Given the description of an element on the screen output the (x, y) to click on. 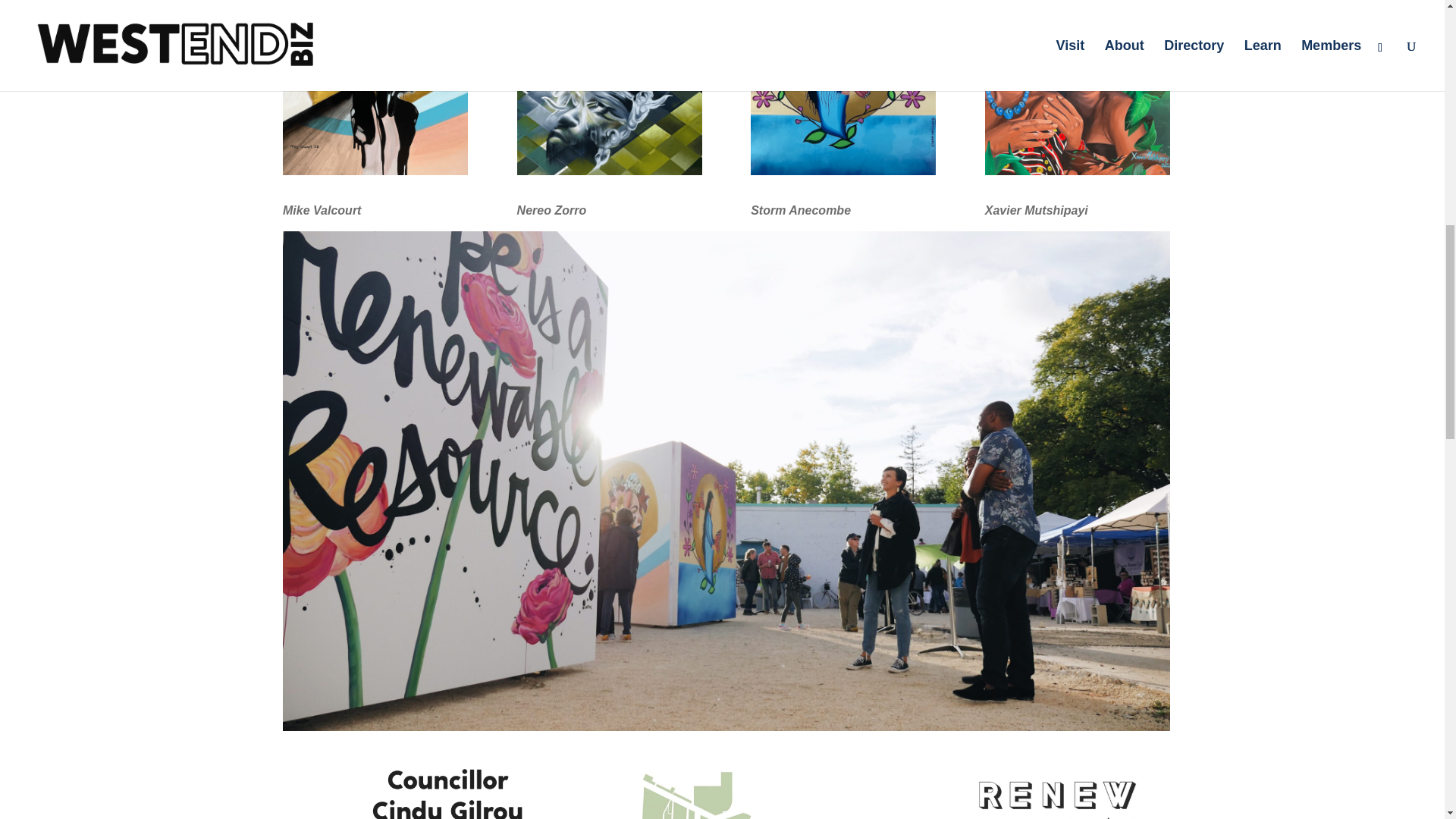
10 (1077, 87)
11 (843, 87)
Untitled design (608, 87)
RENEW Logos (451, 785)
9 (374, 87)
